Given the description of an element on the screen output the (x, y) to click on. 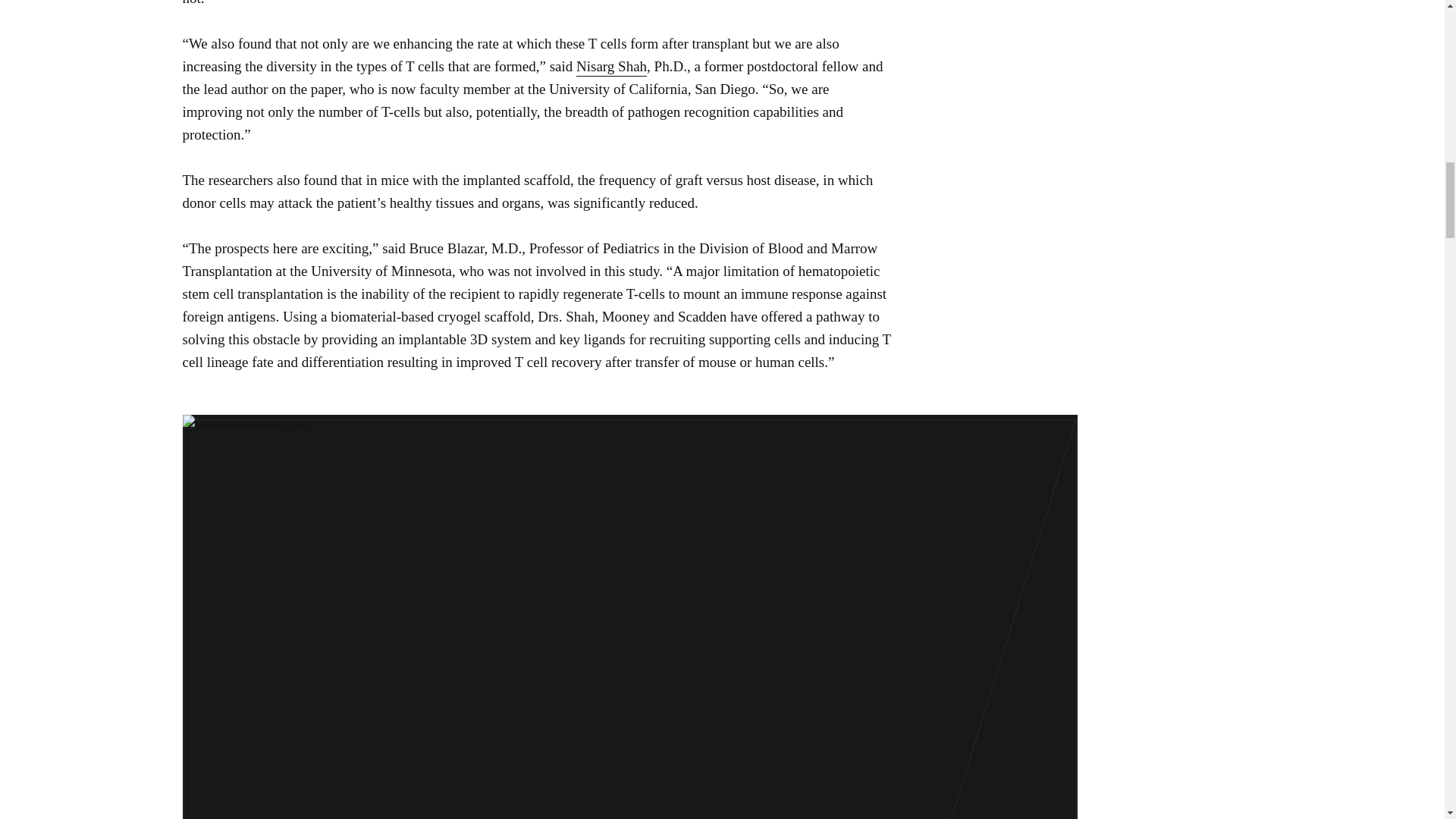
Nisarg Shah (611, 67)
